Given the description of an element on the screen output the (x, y) to click on. 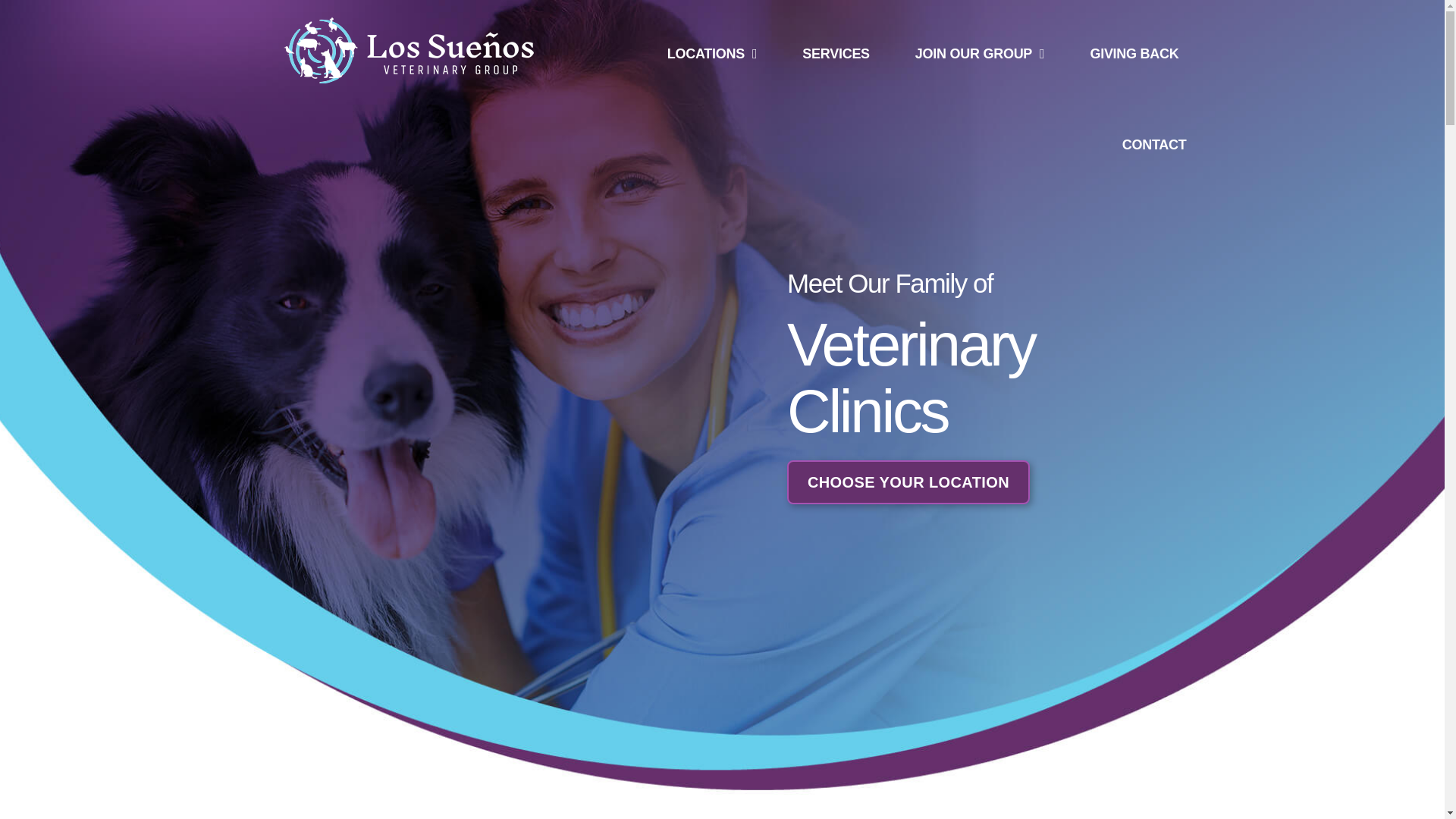
JOIN OUR GROUP (979, 53)
SERVICES (836, 53)
LOCATIONS (712, 53)
